Given the description of an element on the screen output the (x, y) to click on. 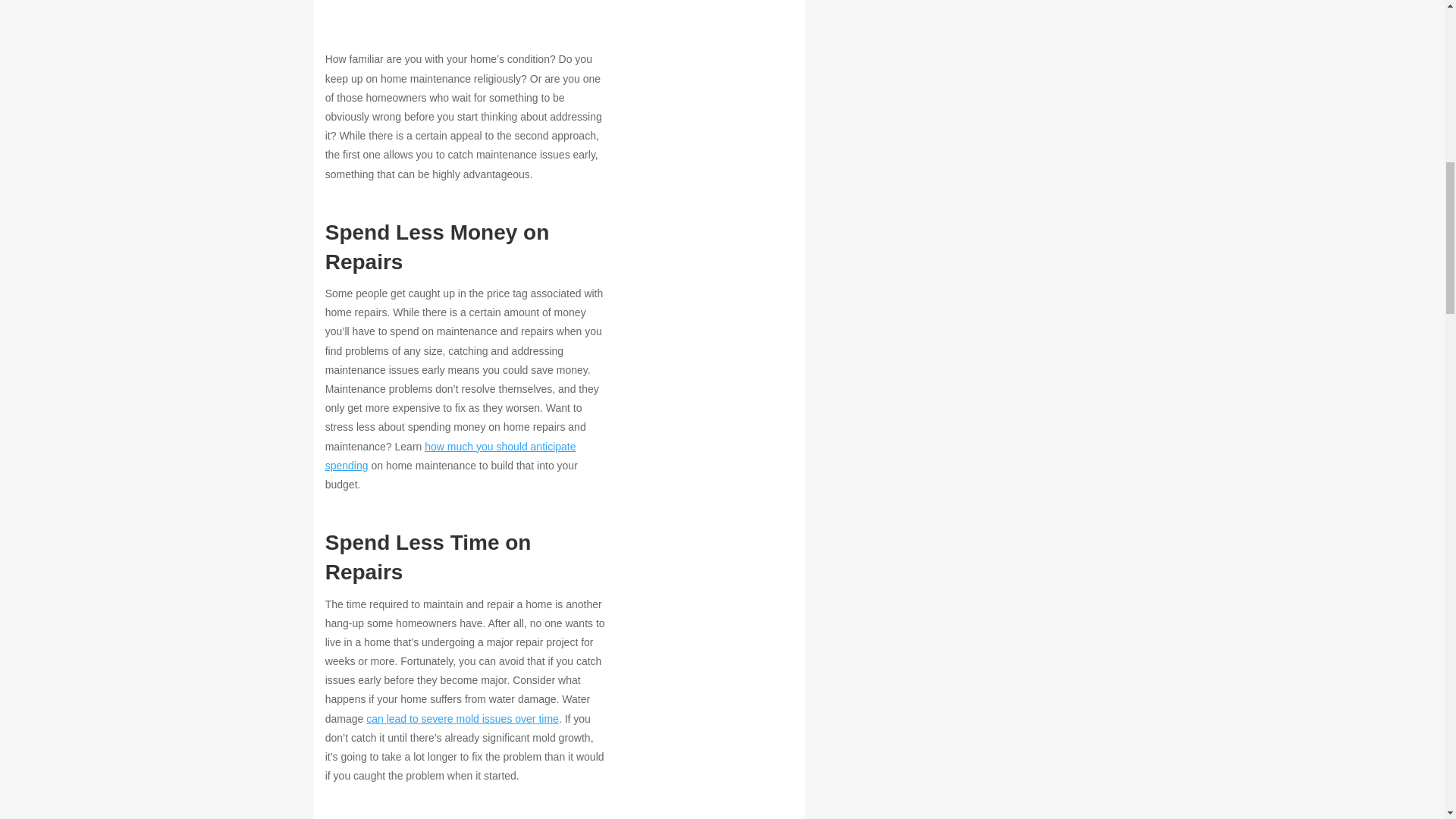
can lead to severe mold issues over time (462, 718)
how much you should anticipate spending (450, 455)
